Given the description of an element on the screen output the (x, y) to click on. 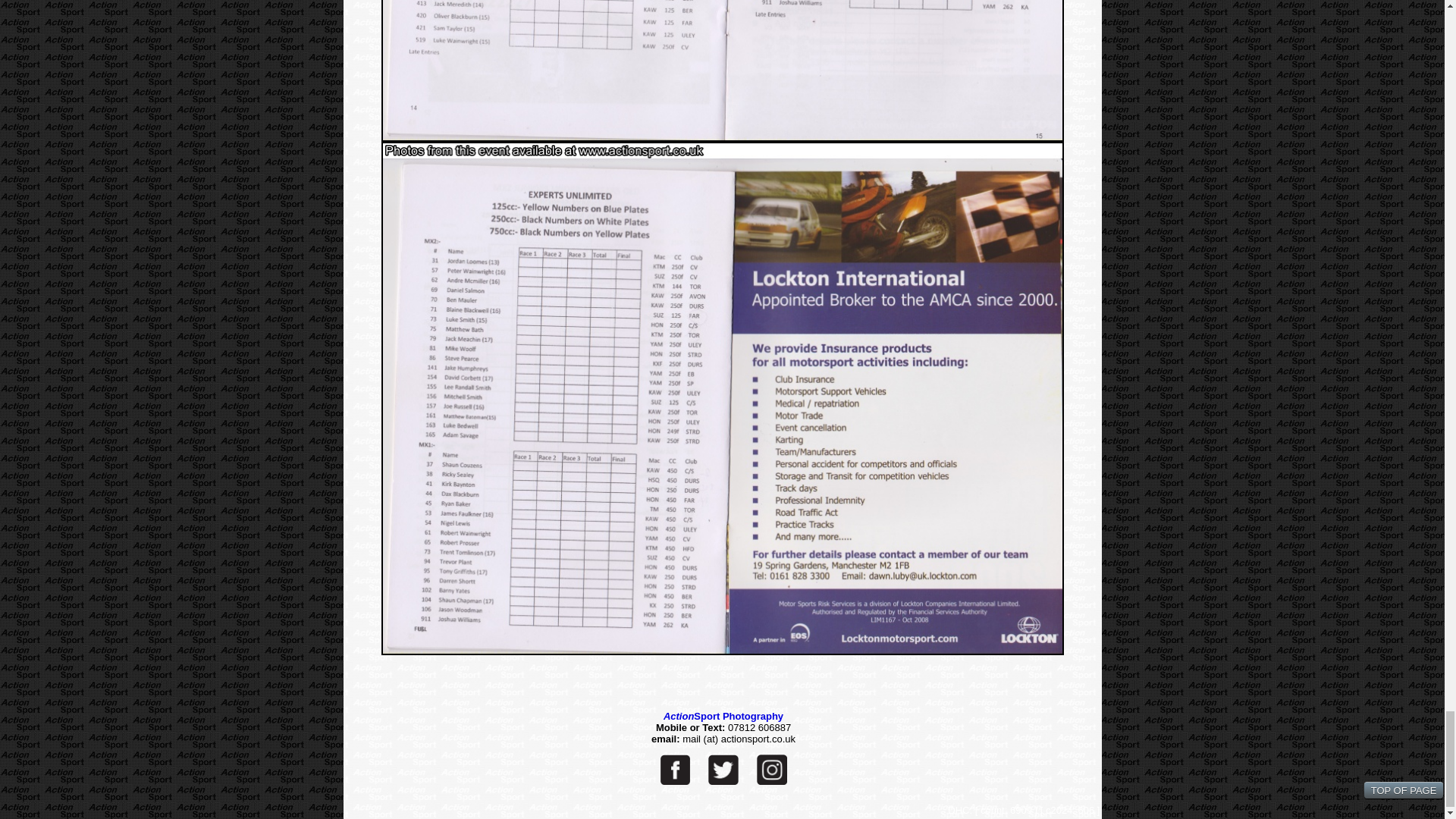
Link to Twitter page (722, 769)
Link to Facebook page (674, 769)
